Given the description of an element on the screen output the (x, y) to click on. 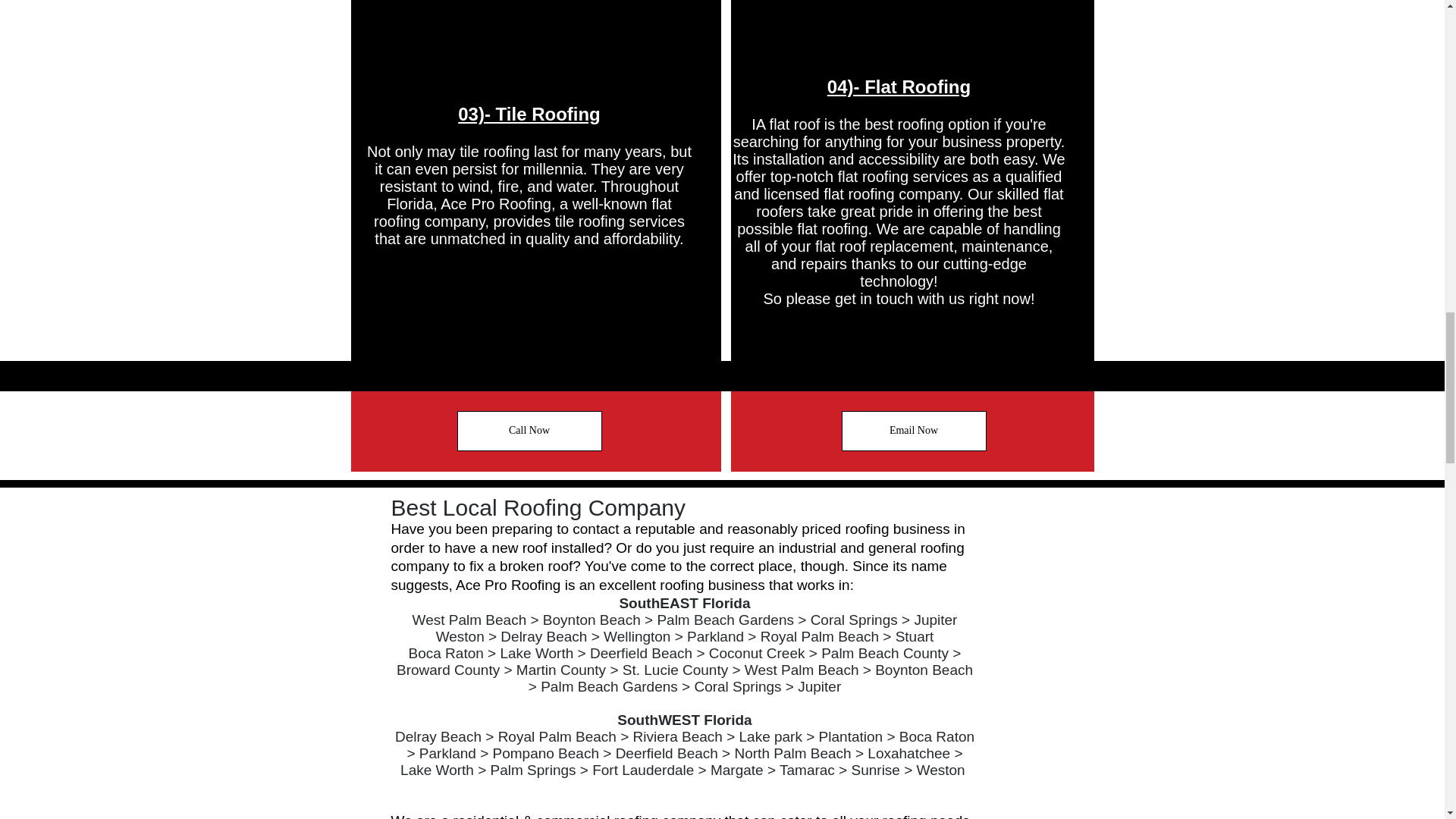
Email Now (914, 431)
Call Now (529, 431)
